Given the description of an element on the screen output the (x, y) to click on. 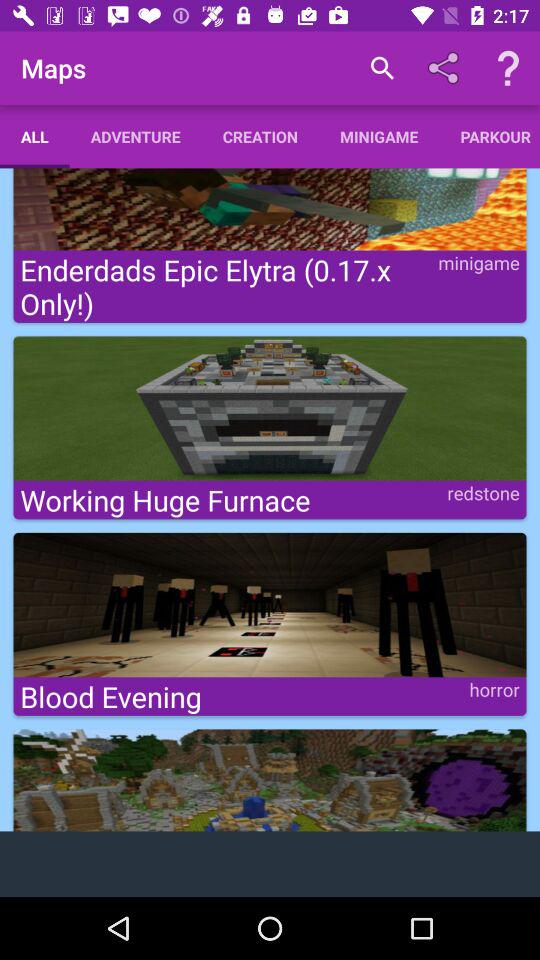
information (508, 67)
